Given the description of an element on the screen output the (x, y) to click on. 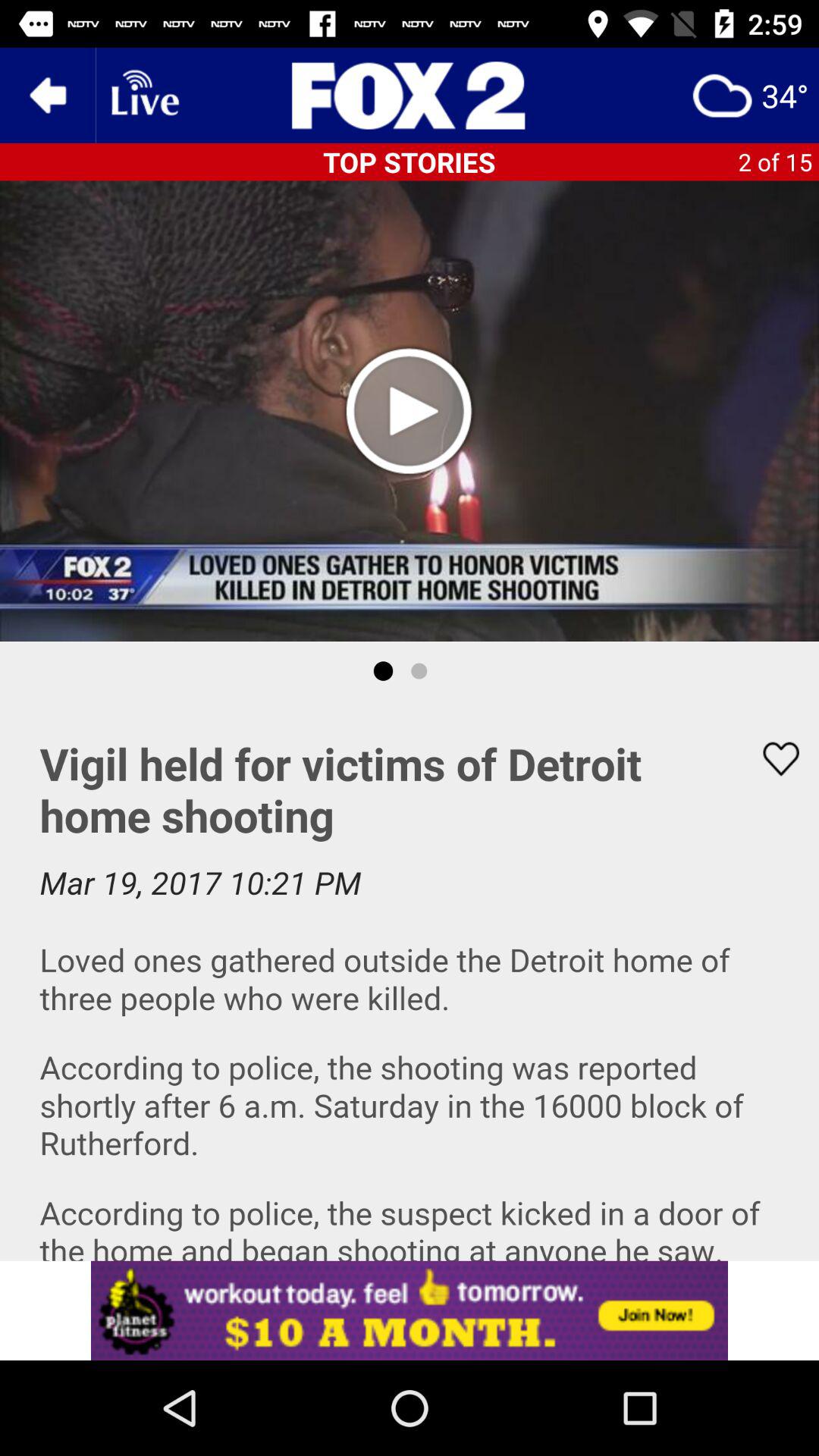
live news (143, 95)
